Given the description of an element on the screen output the (x, y) to click on. 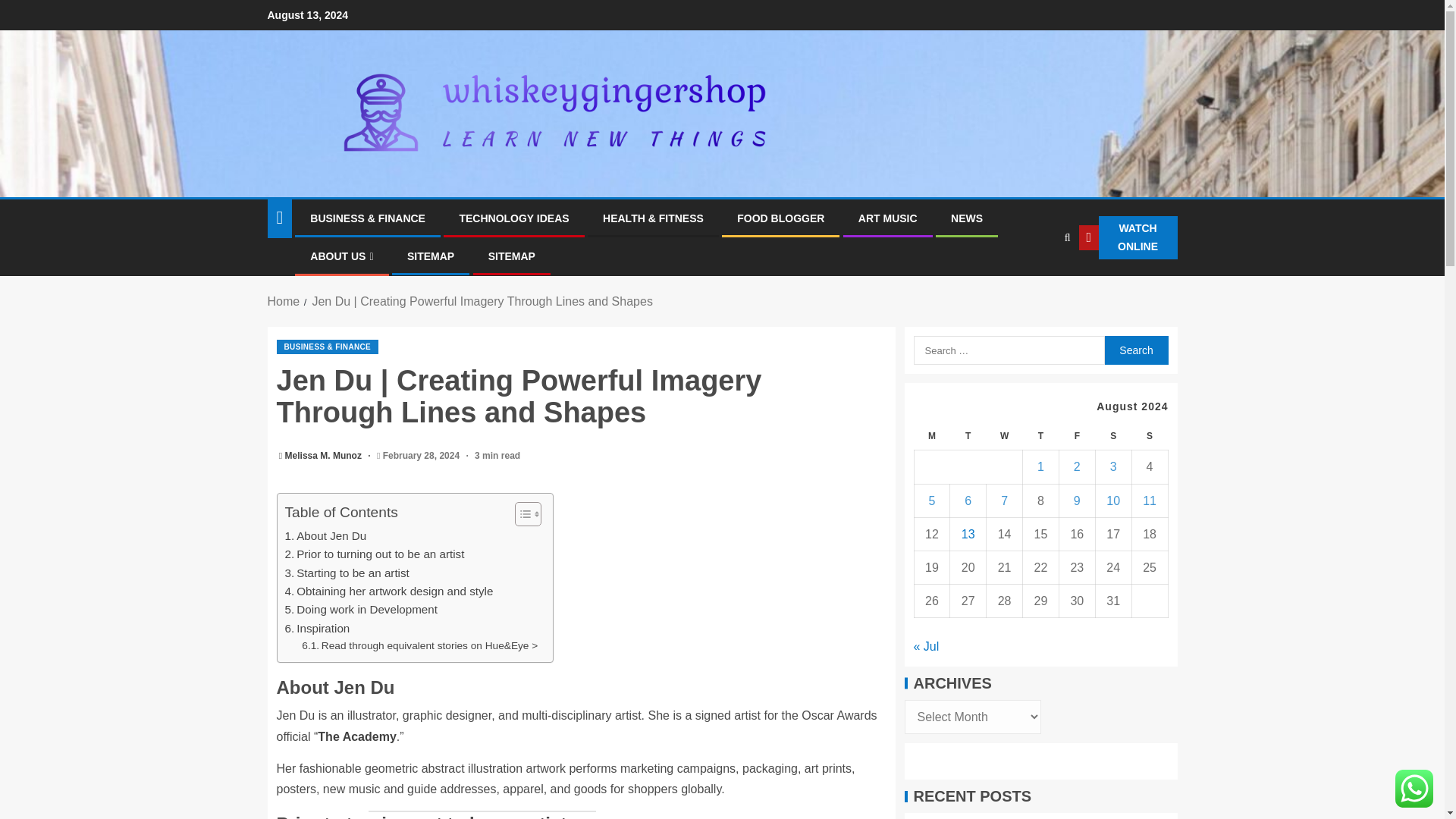
WATCH ONLINE (1127, 238)
FOOD BLOGGER (780, 218)
ART MUSIC (888, 218)
The Academy (356, 736)
Tuesday (968, 436)
Obtaining her artwork design and style (389, 591)
Doing work in Development (361, 609)
Melissa M. Munoz (325, 455)
NEWS (966, 218)
Monday (932, 436)
